Given the description of an element on the screen output the (x, y) to click on. 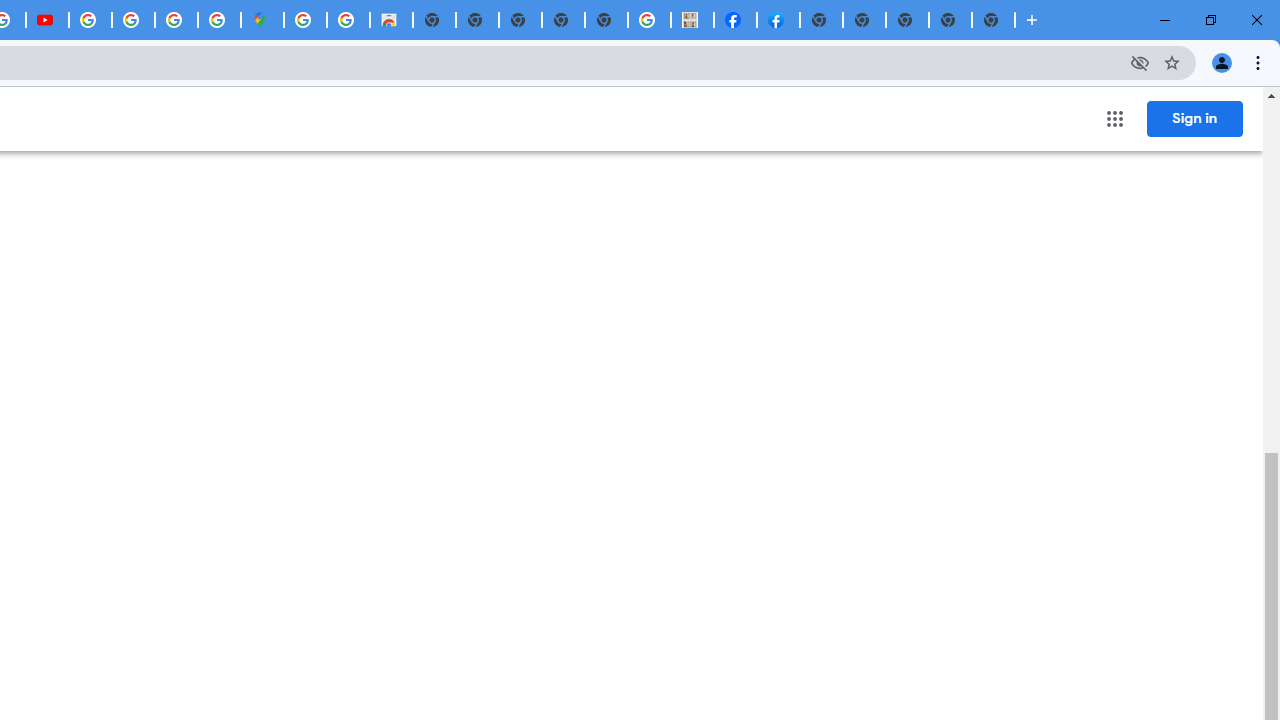
Miley Cyrus | Facebook (735, 20)
Chrome Web Store - Shopping (391, 20)
Sign Up for Facebook (777, 20)
New Tab (821, 20)
